Given the description of an element on the screen output the (x, y) to click on. 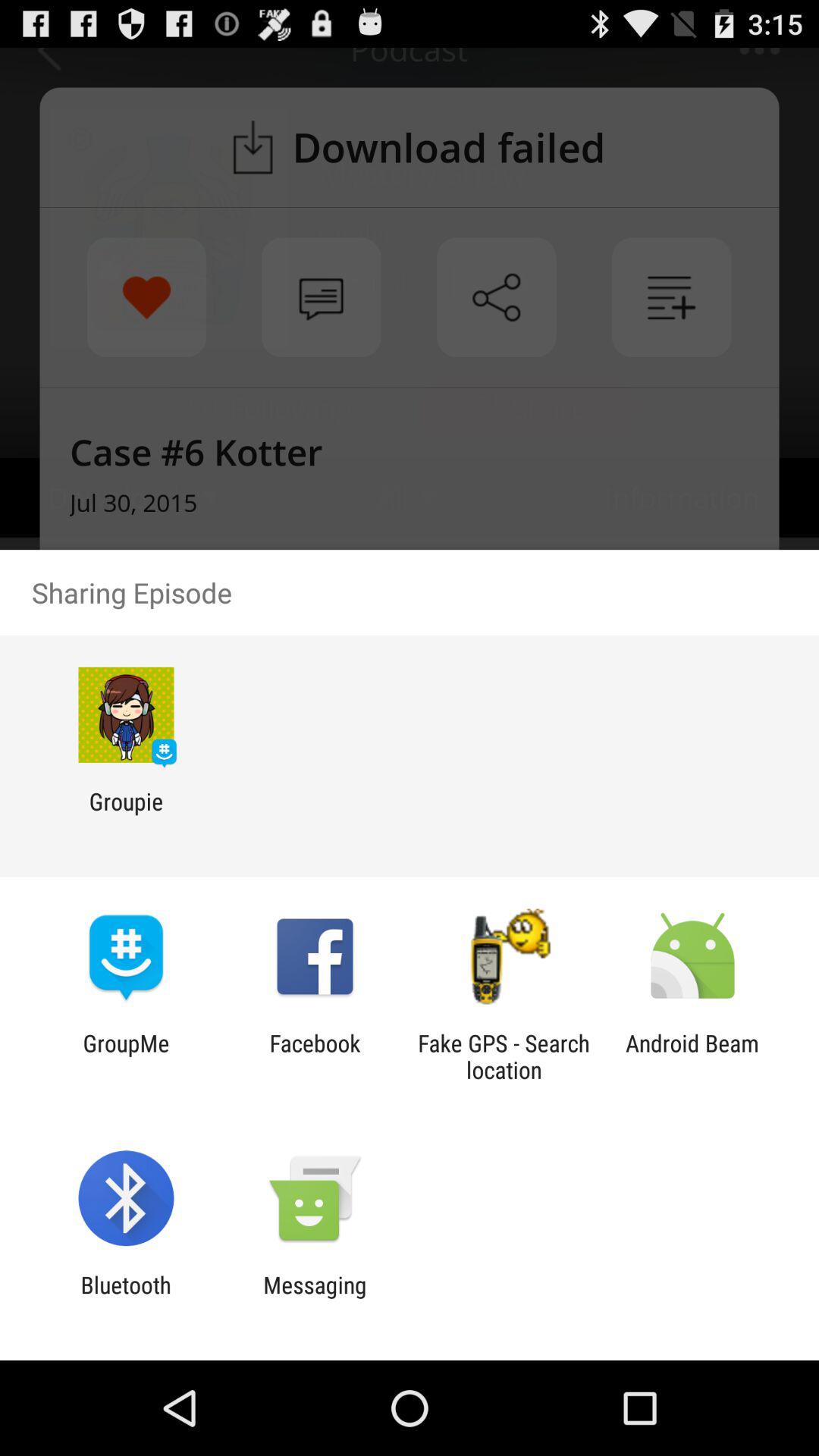
tap fake gps search item (503, 1056)
